Given the description of an element on the screen output the (x, y) to click on. 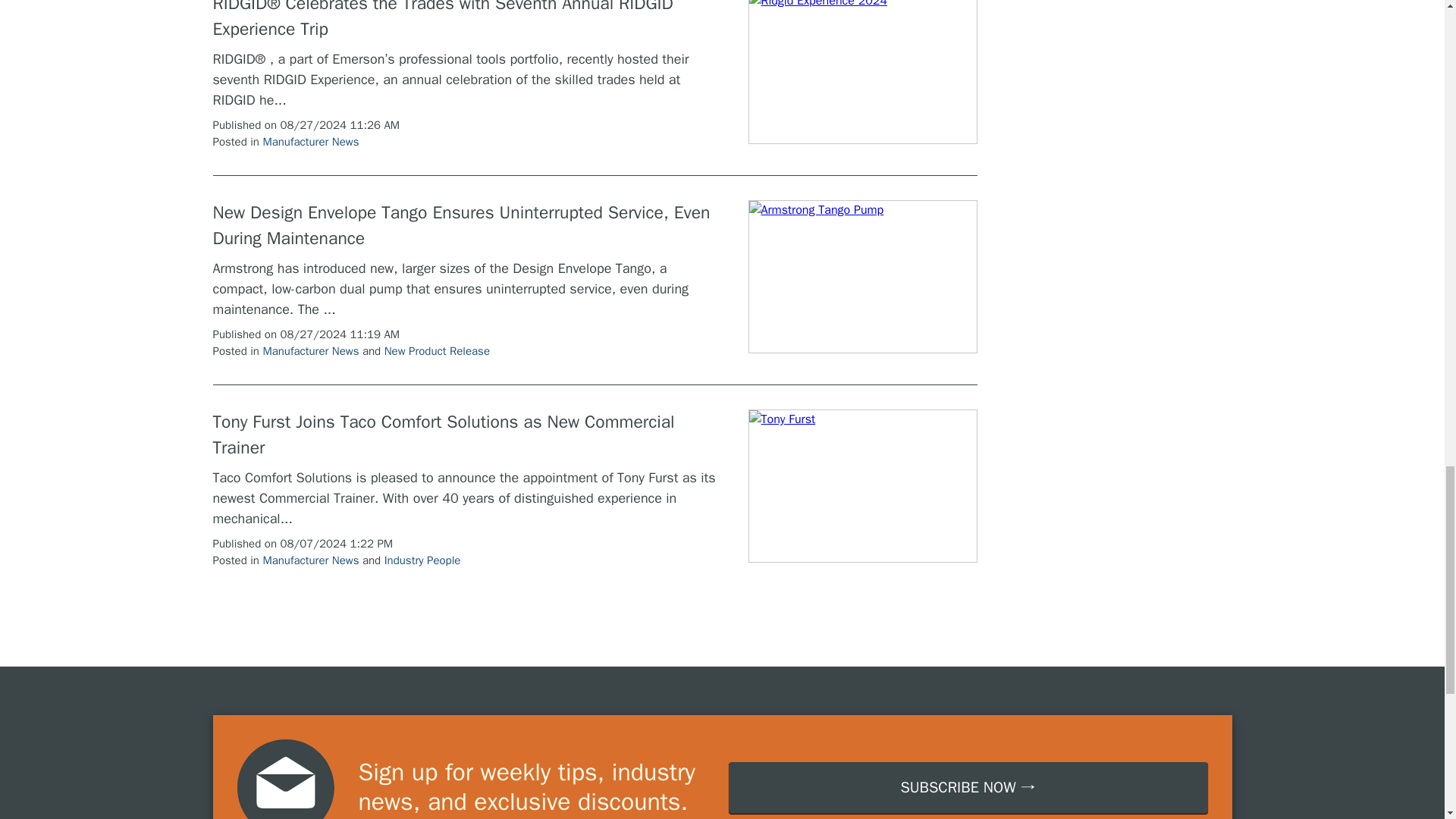
Manufacturer News (310, 141)
Manufacturer News (310, 560)
Industry People (422, 560)
Manufacturer News (310, 350)
New Product Release (436, 350)
